Given the description of an element on the screen output the (x, y) to click on. 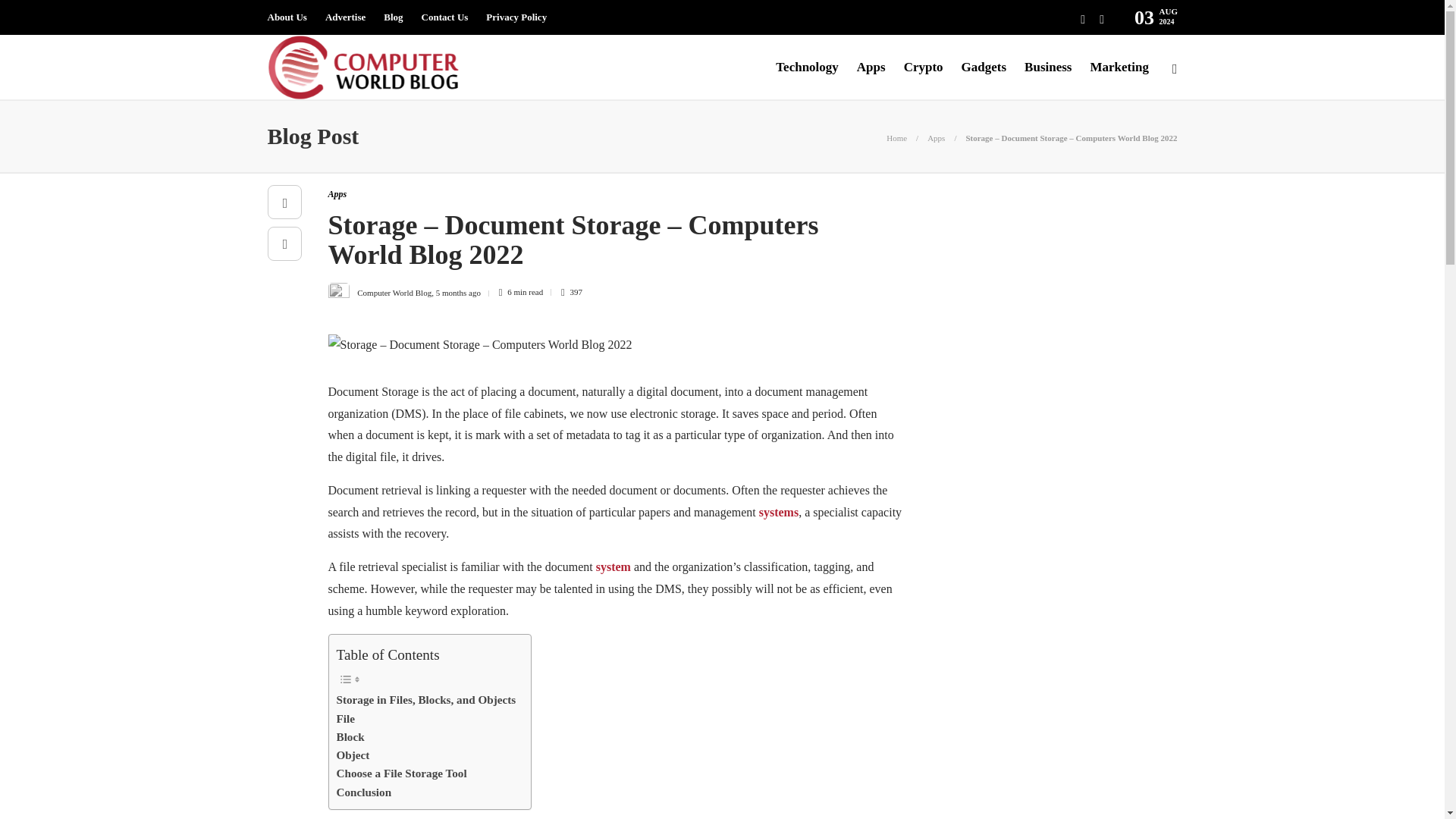
File (345, 719)
Storage in Files, Blocks, and Objects (426, 700)
Home (896, 137)
Advertise (344, 17)
Marketing (1118, 66)
Home (896, 137)
Contact Us (445, 17)
Technology (807, 66)
Object (352, 755)
Choose a File Storage Tool (401, 773)
Apps (935, 137)
Block (350, 737)
Privacy Policy (516, 17)
About Us (285, 17)
Conclusion (363, 791)
